Given the description of an element on the screen output the (x, y) to click on. 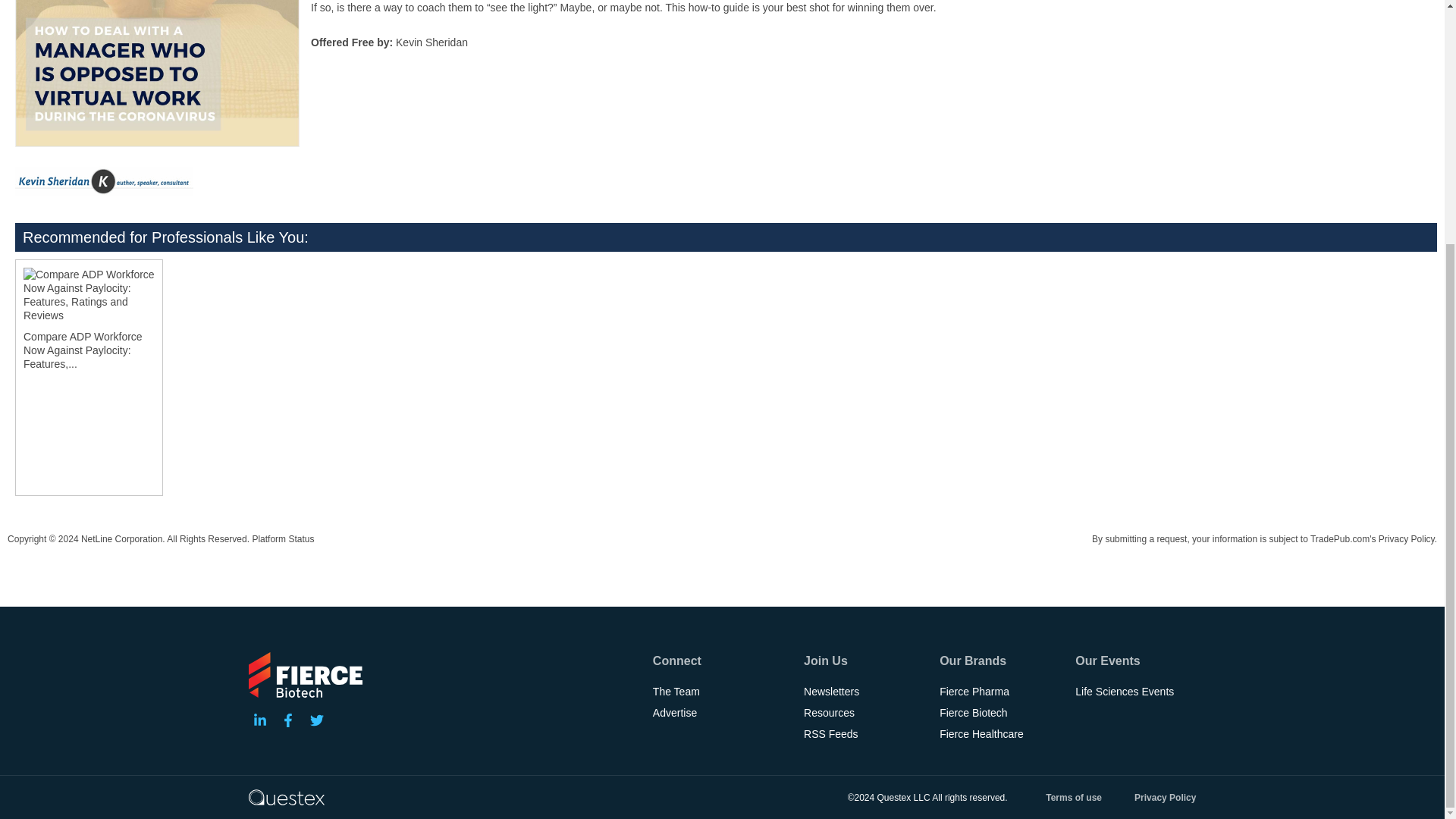
RSS Feeds (863, 733)
Life Sciences Events (1135, 690)
Advertise (720, 712)
Resources (863, 712)
The Team (720, 690)
Newsletters (863, 690)
